Given the description of an element on the screen output the (x, y) to click on. 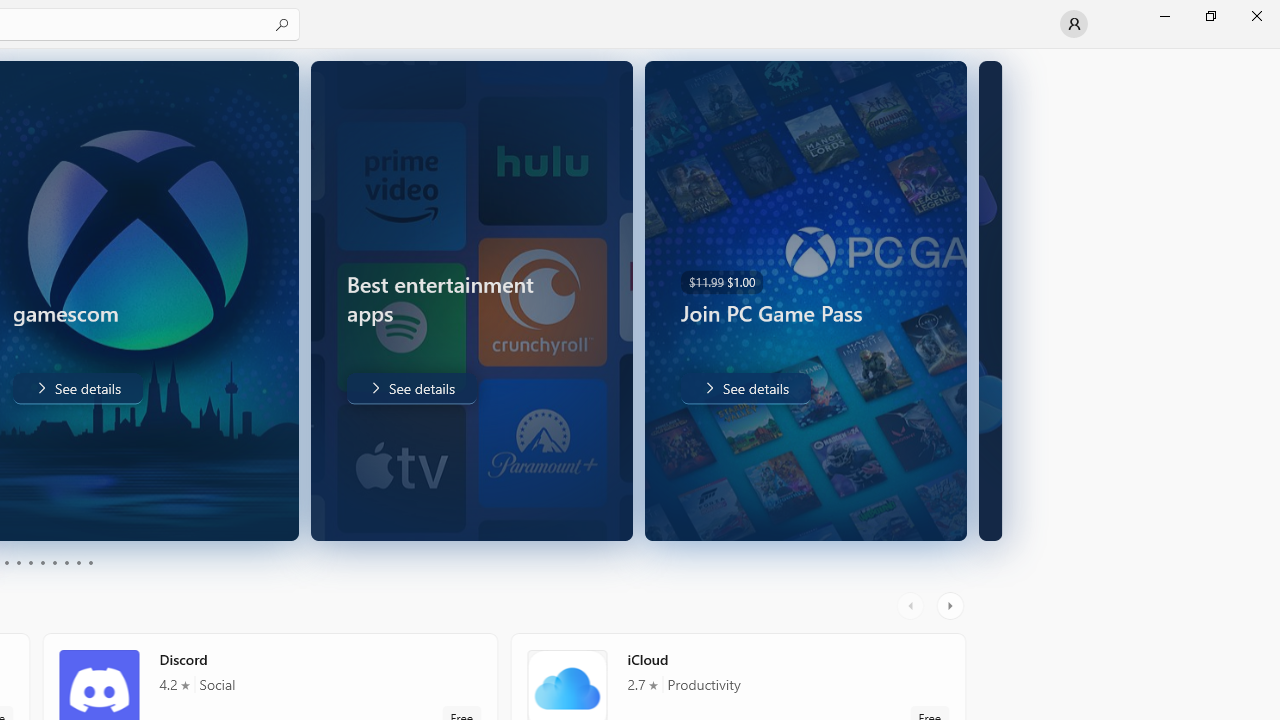
Page 5 (29, 562)
AutomationID: LeftScrollButton (913, 606)
AutomationID: Image (971, 300)
Page 6 (41, 562)
Page 3 (5, 562)
Close Microsoft Store (1256, 15)
Page 9 (77, 562)
Minimize Microsoft Store (1164, 15)
AutomationID: RightScrollButton (952, 606)
Restore Microsoft Store (1210, 15)
User profile (1073, 24)
Page 4 (17, 562)
